Given the description of an element on the screen output the (x, y) to click on. 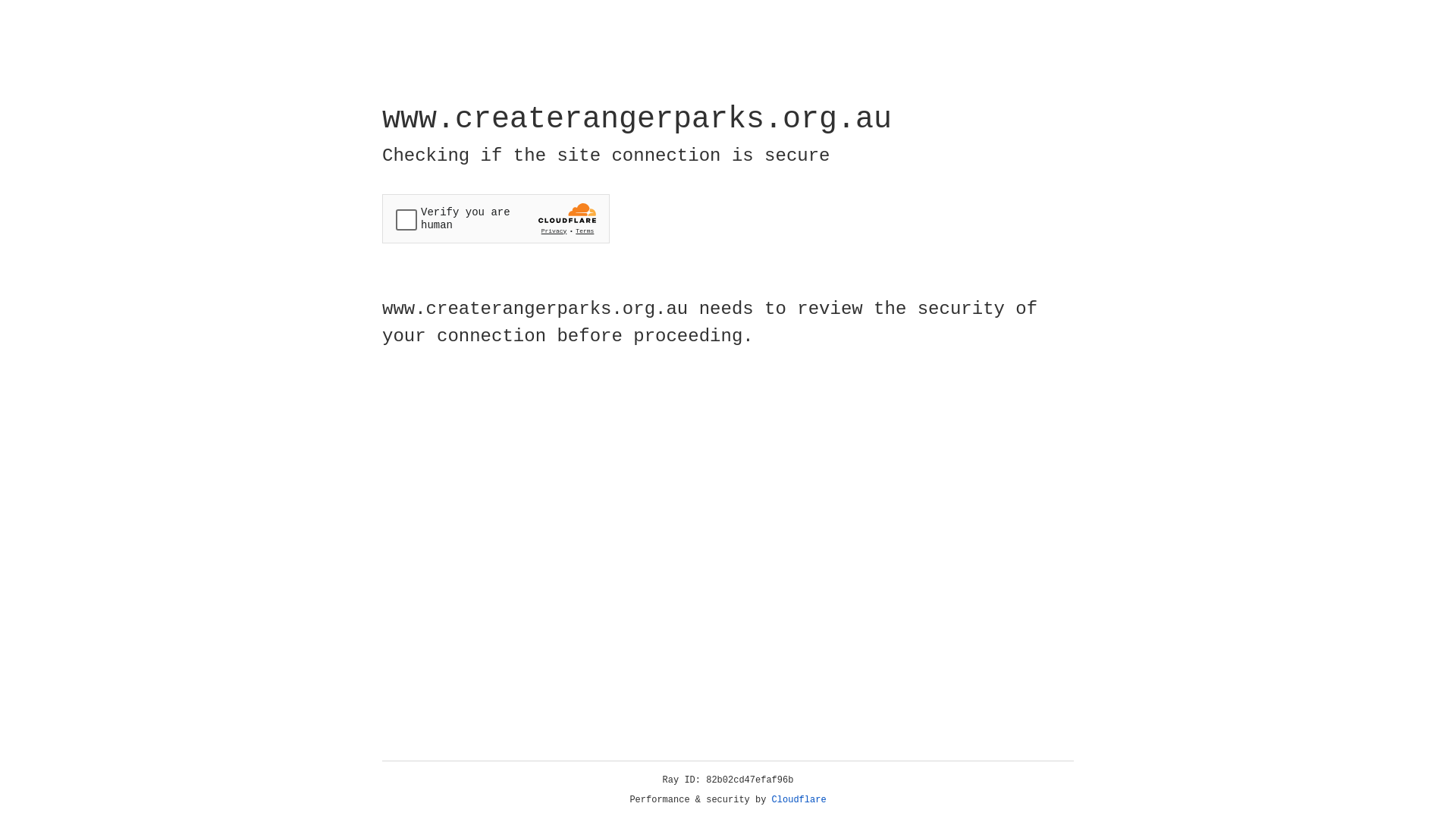
Cloudflare Element type: text (798, 799)
Widget containing a Cloudflare security challenge Element type: hover (495, 218)
